Given the description of an element on the screen output the (x, y) to click on. 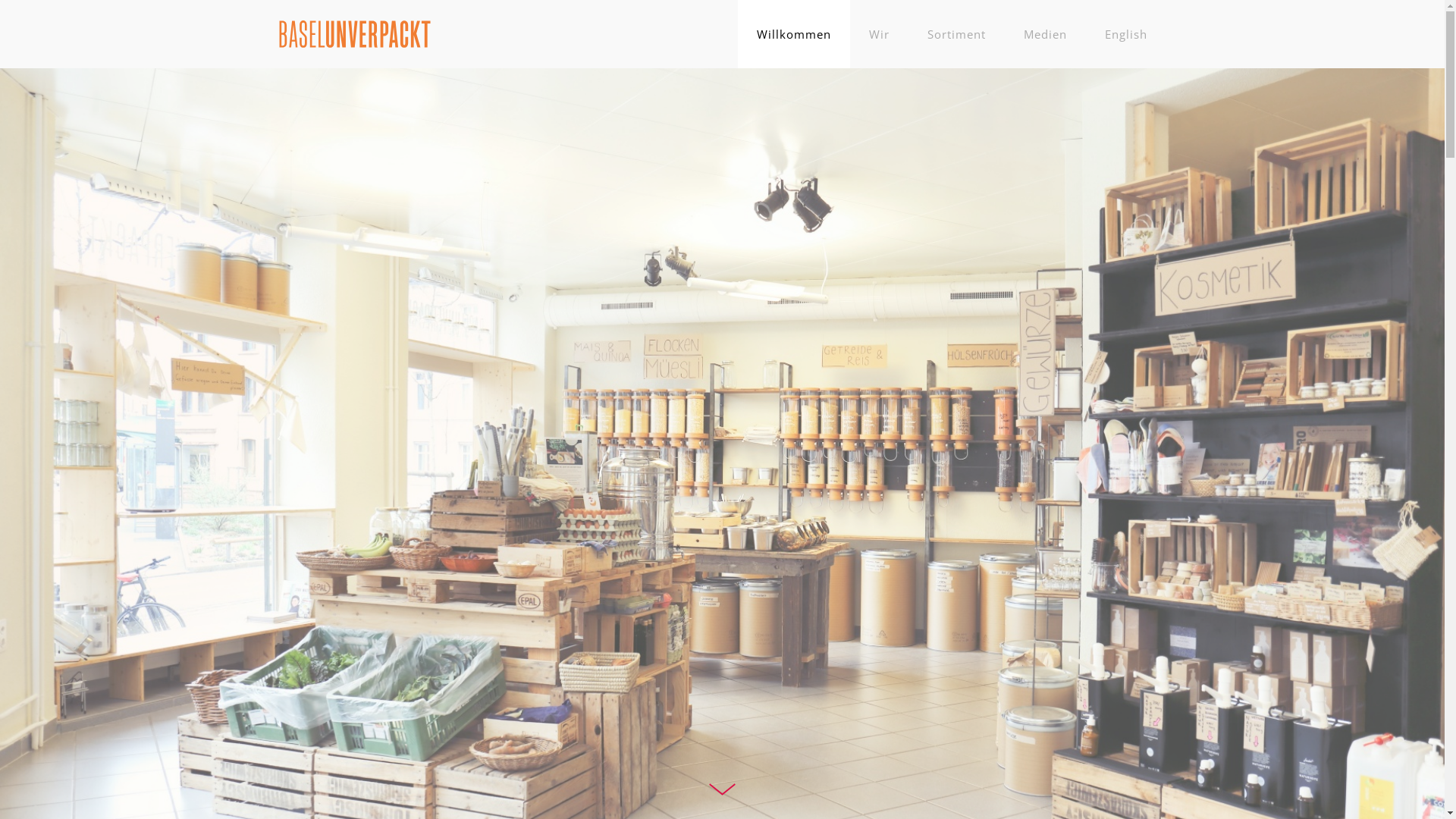
English Element type: text (1125, 34)
Medien Element type: text (1044, 34)
Basel unverpackt Element type: hover (354, 32)
Wir Element type: text (878, 34)
Sortiment Element type: text (956, 34)
Willkommen Element type: text (793, 34)
